Given the description of an element on the screen output the (x, y) to click on. 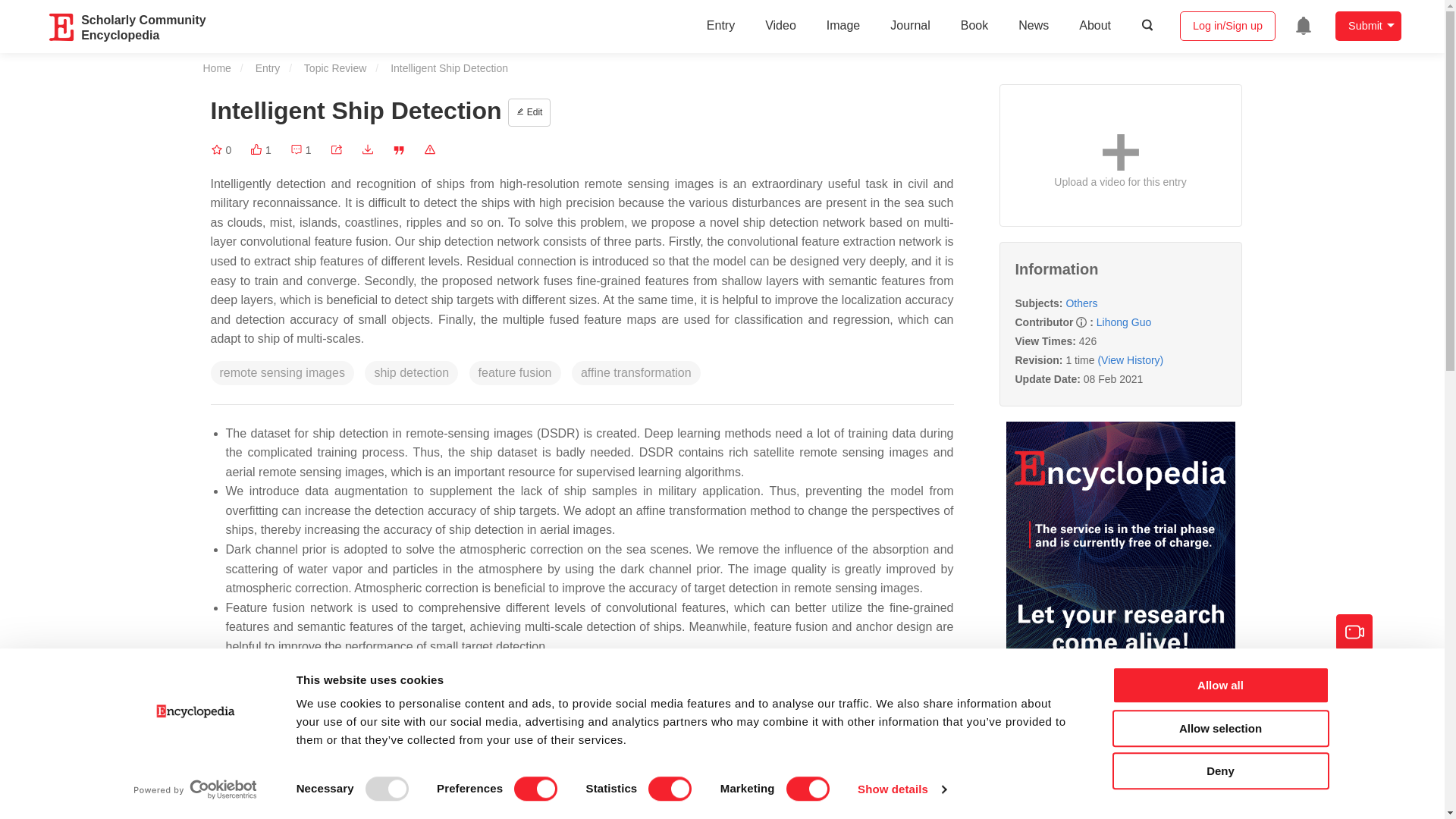
Edit (529, 112)
Favorite (221, 149)
Show details (900, 789)
Deny (1219, 770)
Like (260, 149)
Comment (300, 149)
